Given the description of an element on the screen output the (x, y) to click on. 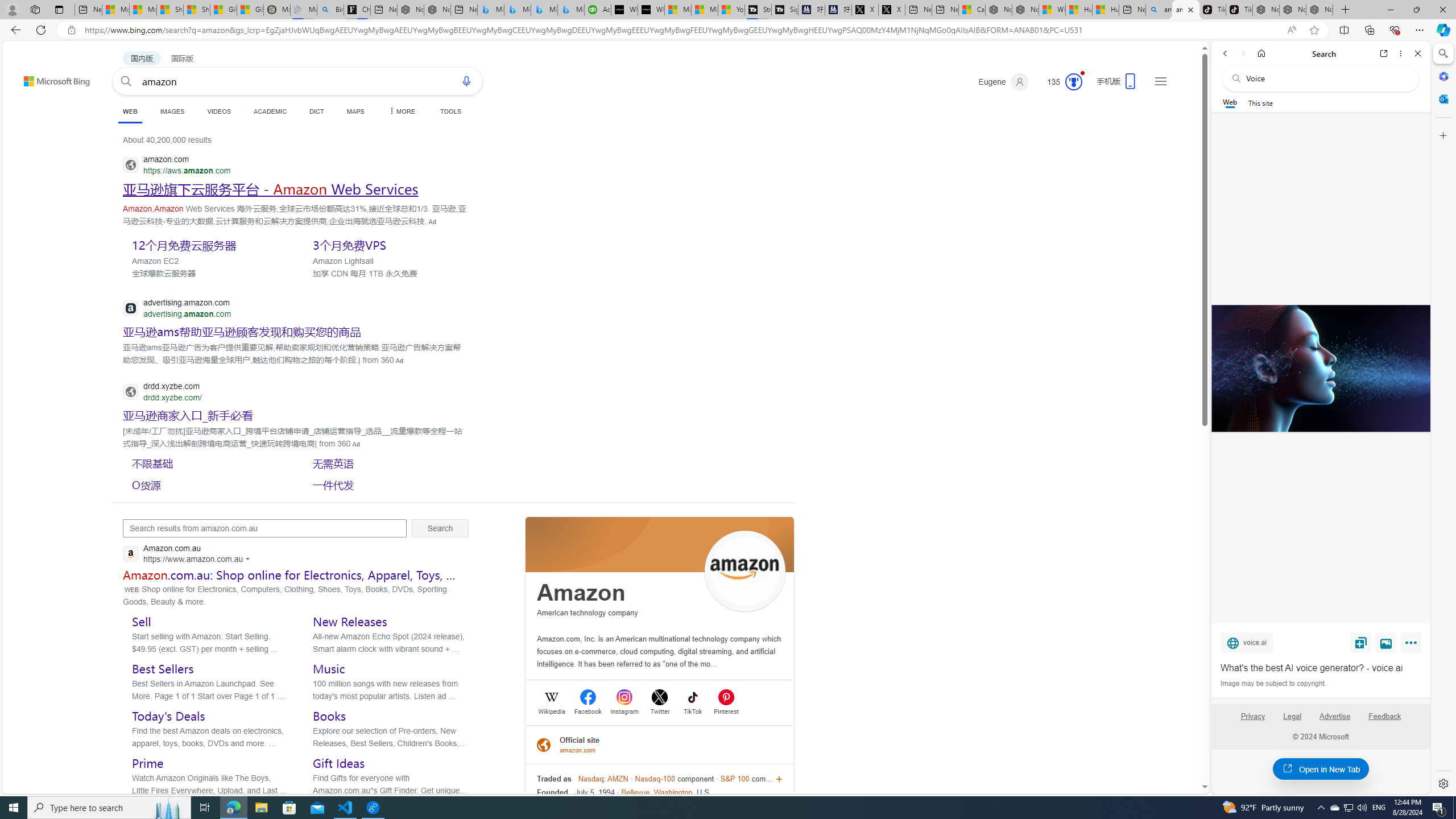
Nordace - #1 Japanese Best-Seller - Siena Smart Backpack (437, 9)
Privacy (1252, 720)
What's the best AI voice generator? - voice.ai (1320, 667)
Nasdaq-100 (654, 778)
Twitter (660, 710)
Search results from amazon.com.au (264, 528)
Microsoft Bing Travel - Shangri-La Hotel Bangkok (571, 9)
Books (329, 715)
Legal (1291, 715)
Class: spl_logobg (659, 544)
